Given the description of an element on the screen output the (x, y) to click on. 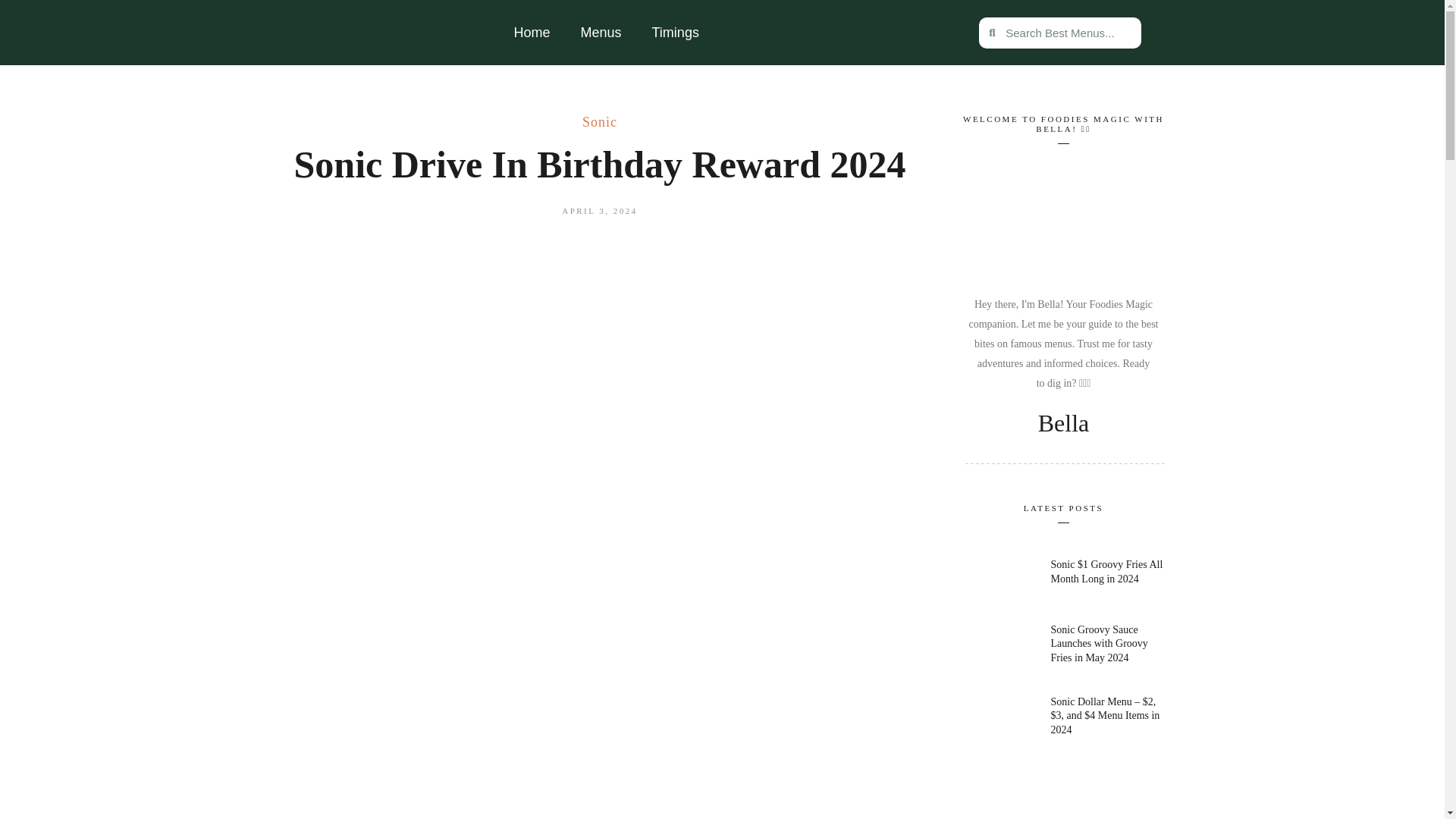
Timings (675, 32)
Home (532, 32)
Menus (601, 32)
